Given the description of an element on the screen output the (x, y) to click on. 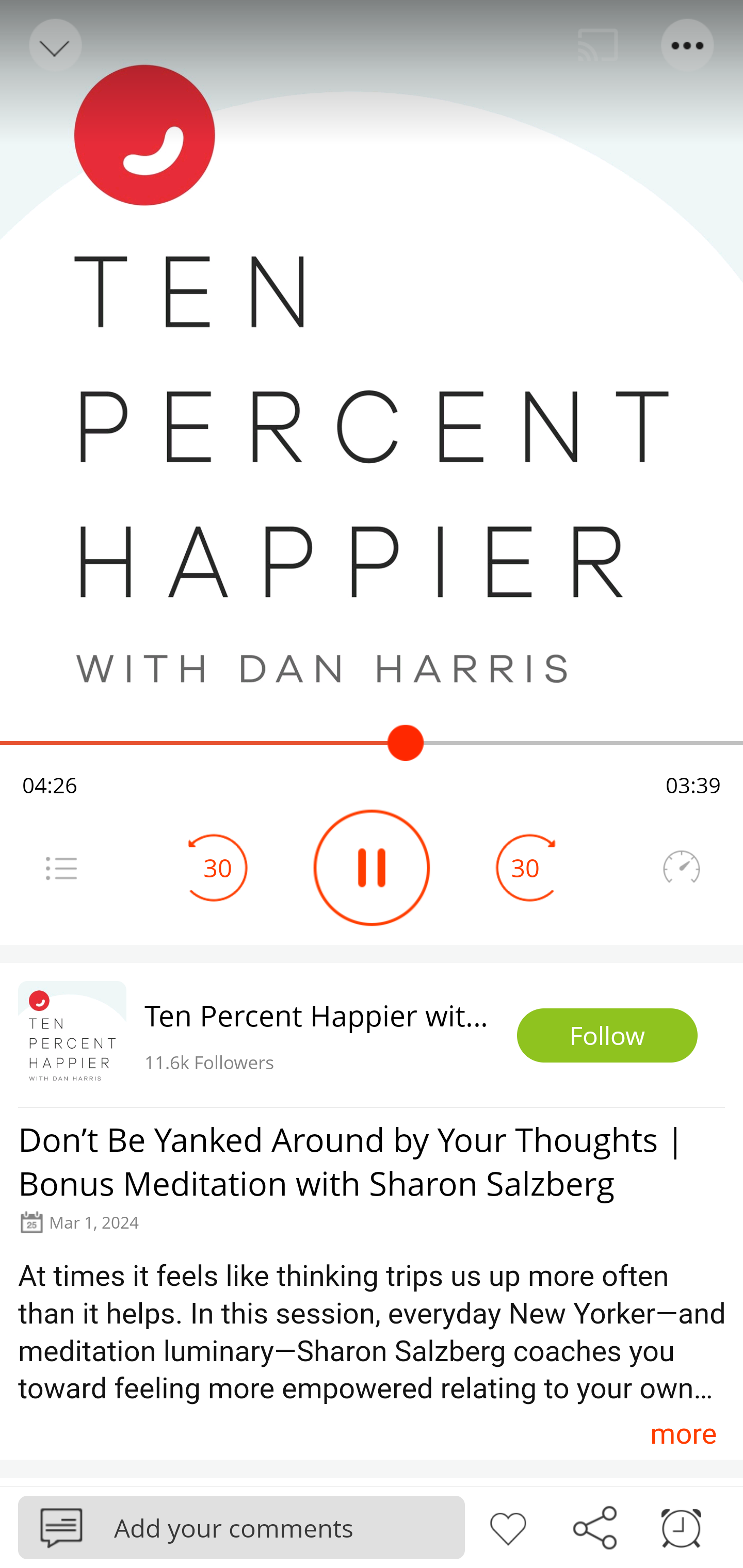
Back (53, 45)
Cast. Disconnected (597, 45)
Menu (688, 45)
Play (371, 867)
30 Seek Backward (217, 867)
30 Seek Forward (525, 867)
Menu (60, 867)
Speedometer (681, 867)
Follow (607, 1035)
more (682, 1432)
Like (508, 1526)
Share (594, 1526)
Sleep timer (681, 1526)
Podbean Add your comments (241, 1526)
